Given the description of an element on the screen output the (x, y) to click on. 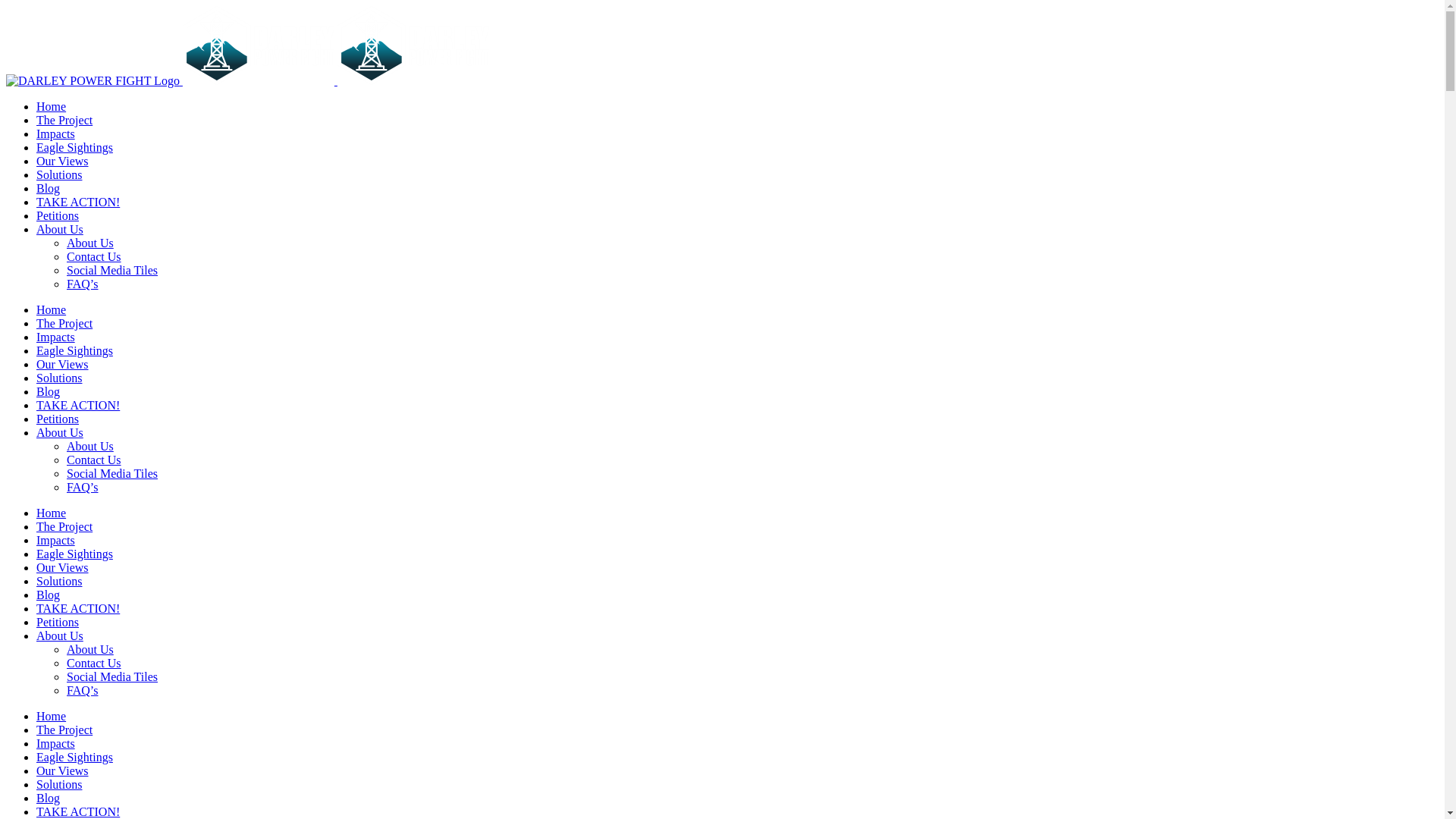
Eagle Sightings Element type: text (74, 756)
Impacts Element type: text (55, 743)
TAKE ACTION! Element type: text (77, 404)
TAKE ACTION! Element type: text (77, 201)
Contact Us Element type: text (93, 256)
About Us Element type: text (89, 242)
Solutions Element type: text (58, 580)
Our Views Element type: text (62, 363)
Our Views Element type: text (62, 567)
Home Element type: text (50, 512)
Blog Element type: text (47, 391)
Eagle Sightings Element type: text (74, 350)
The Project Element type: text (64, 526)
Impacts Element type: text (55, 133)
Social Media Tiles Element type: text (111, 269)
About Us Element type: text (89, 445)
Home Element type: text (50, 715)
Our Views Element type: text (62, 770)
Eagle Sightings Element type: text (74, 147)
The Project Element type: text (64, 119)
Home Element type: text (50, 309)
Contact Us Element type: text (93, 459)
Blog Element type: text (47, 188)
The Project Element type: text (64, 322)
Social Media Tiles Element type: text (111, 473)
About Us Element type: text (89, 649)
Contact Us Element type: text (93, 662)
Social Media Tiles Element type: text (111, 676)
About Us Element type: text (59, 228)
TAKE ACTION! Element type: text (77, 608)
TAKE ACTION! Element type: text (77, 811)
Impacts Element type: text (55, 336)
Skip to content Element type: text (5, 5)
Petitions Element type: text (57, 215)
Petitions Element type: text (57, 621)
The Project Element type: text (64, 729)
Our Views Element type: text (62, 160)
Impacts Element type: text (55, 539)
Solutions Element type: text (58, 174)
Solutions Element type: text (58, 377)
About Us Element type: text (59, 635)
Petitions Element type: text (57, 418)
Home Element type: text (50, 106)
Solutions Element type: text (58, 784)
Eagle Sightings Element type: text (74, 553)
About Us Element type: text (59, 432)
Blog Element type: text (47, 594)
Blog Element type: text (47, 797)
